Given the description of an element on the screen output the (x, y) to click on. 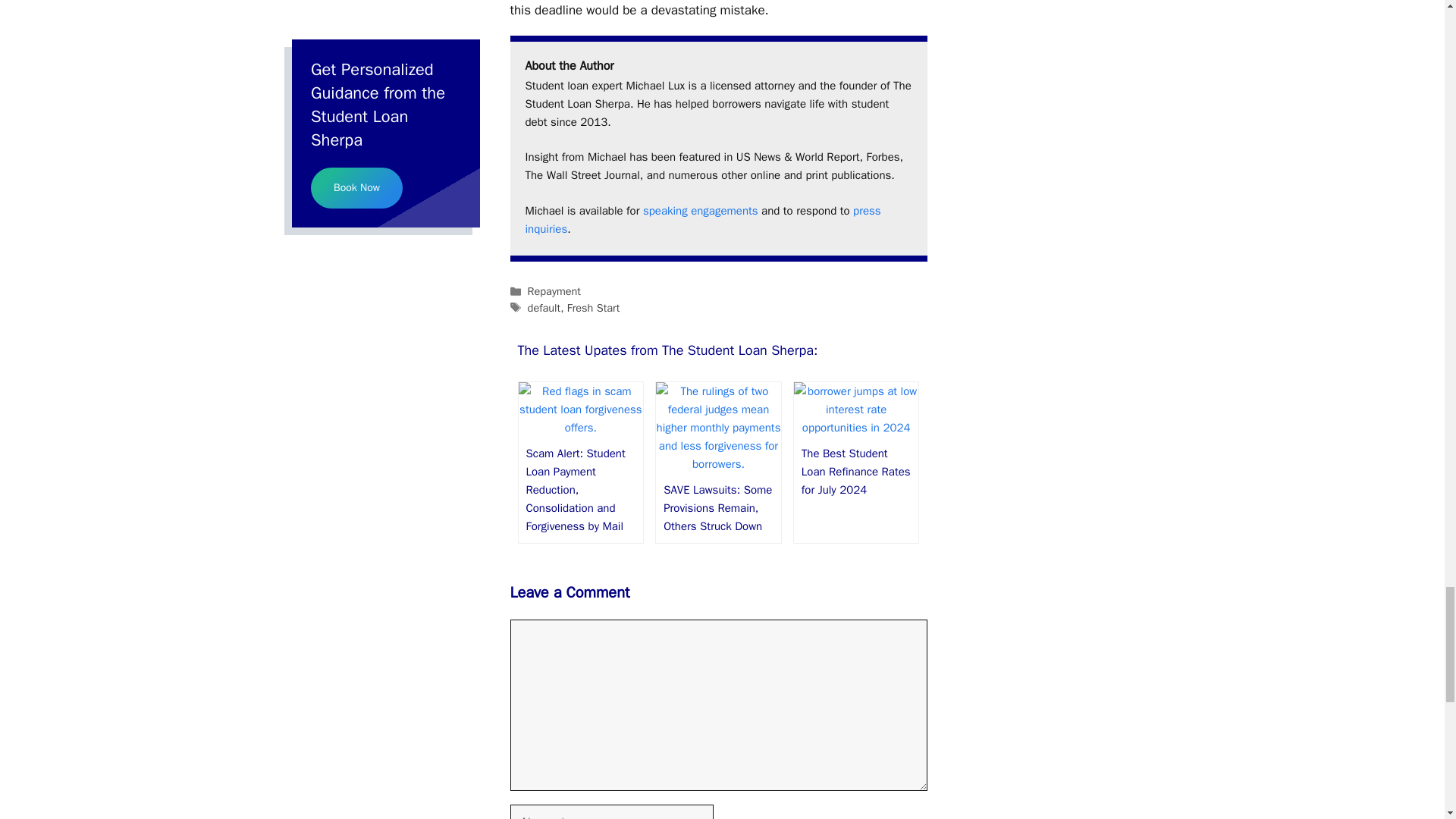
The Best Student Loan Refinance Rates for July 2024 (855, 427)
speaking engagements (700, 210)
SAVE Lawsuits: Some Provisions Remain, Others Struck Down (718, 463)
